Given the description of an element on the screen output the (x, y) to click on. 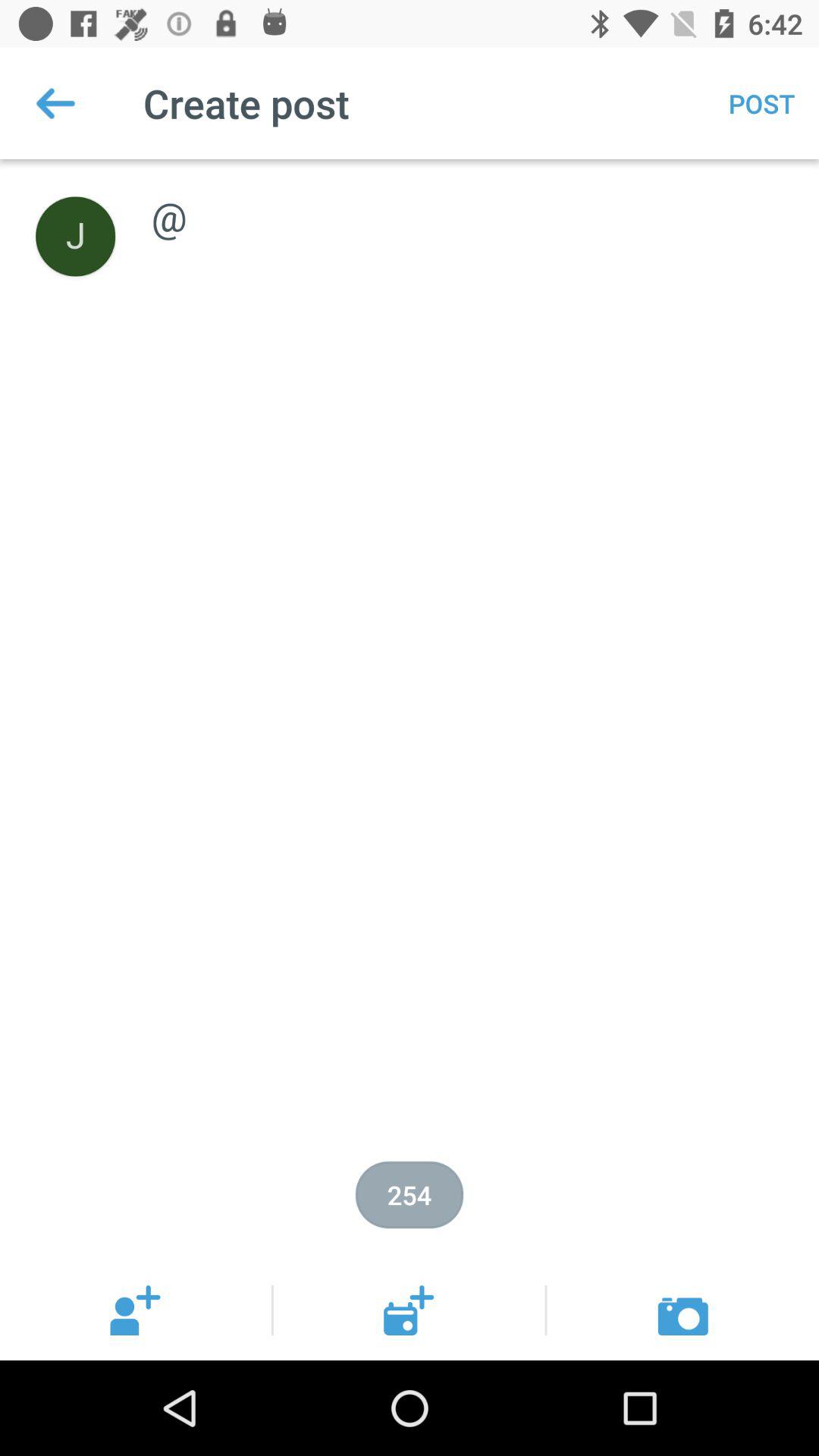
swipe until @ item (469, 200)
